Given the description of an element on the screen output the (x, y) to click on. 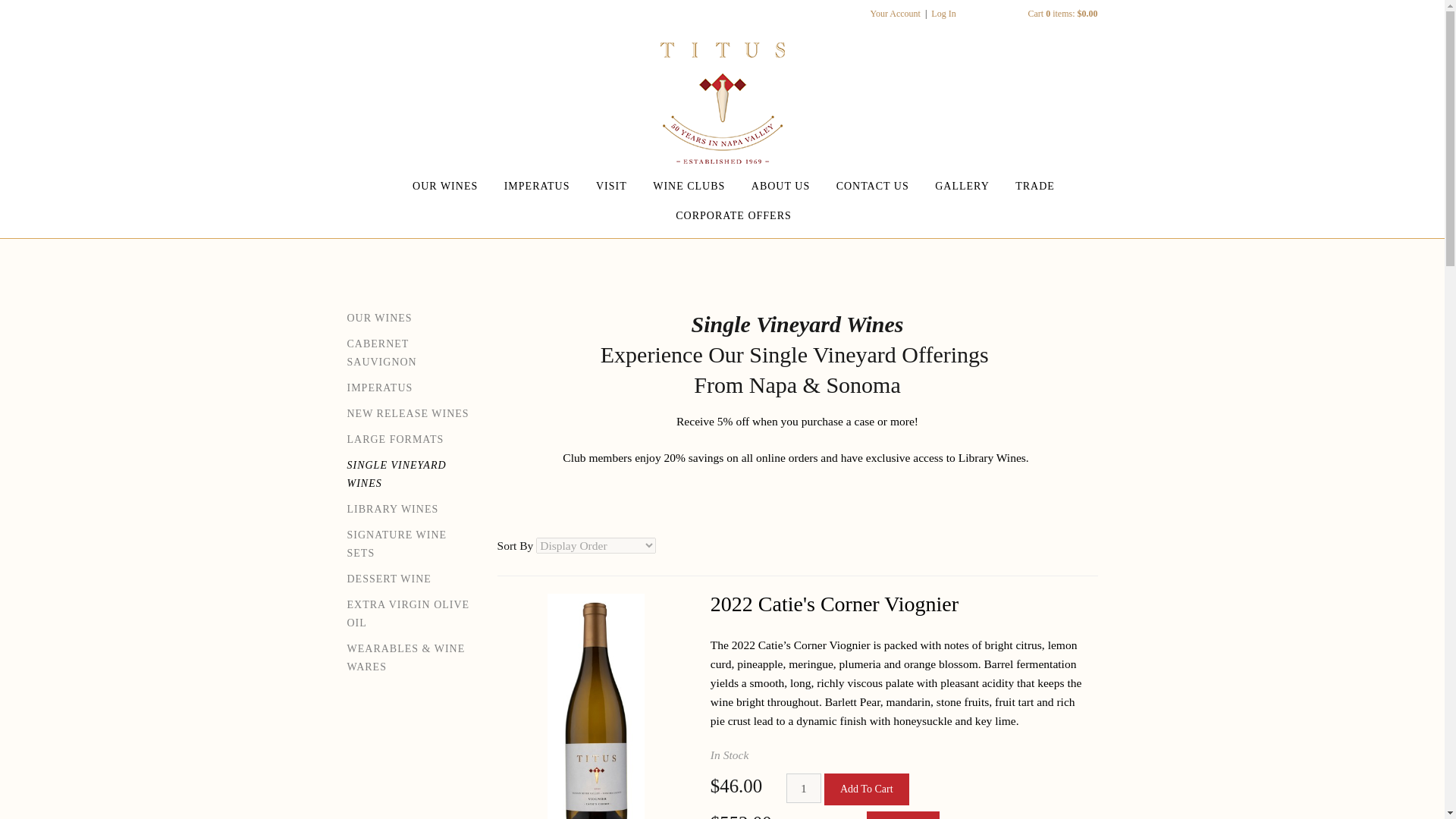
CONTACT US (871, 185)
1 (804, 788)
WINE CLUBS (688, 185)
CORPORATE OFFERS (733, 215)
ABOUT US (780, 185)
TRADE (1034, 185)
Your Account (895, 13)
GALLERY (962, 185)
VISIT (611, 185)
IMPERATUS (536, 185)
2022 Catie's Corner Viognier (834, 603)
OUR WINES (444, 185)
Titus Vineyards (721, 102)
Log In (943, 13)
